Given the description of an element on the screen output the (x, y) to click on. 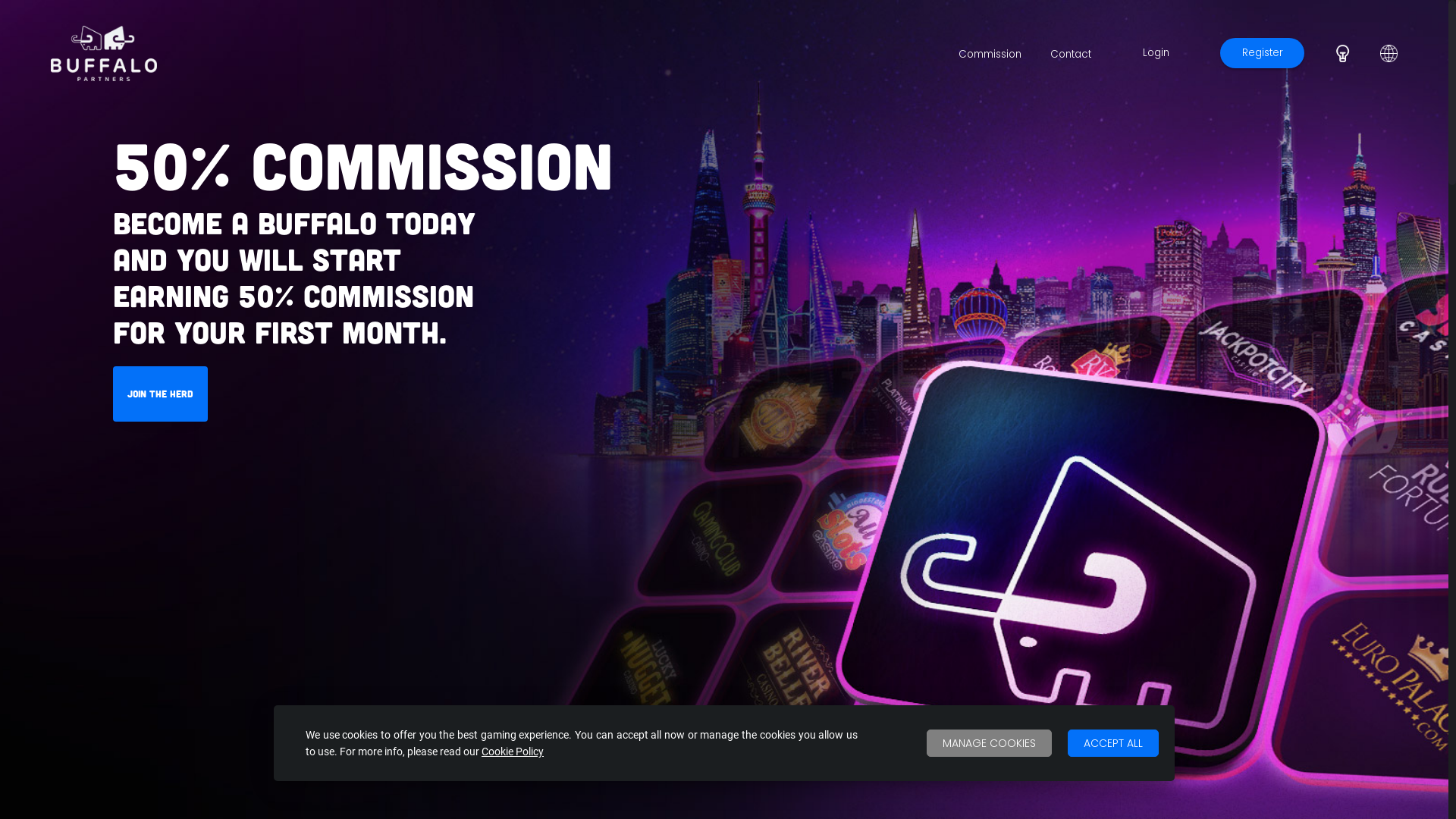
JOIN THE HERD Element type: text (159, 394)
Cookie Policy Element type: text (512, 751)
MANAGE COOKIES Element type: text (988, 742)
Contact Element type: text (1070, 54)
Commission Element type: text (989, 54)
Login Element type: text (1155, 52)
ACCEPT ALL Element type: text (1112, 742)
Register Element type: text (1262, 52)
